Given the description of an element on the screen output the (x, y) to click on. 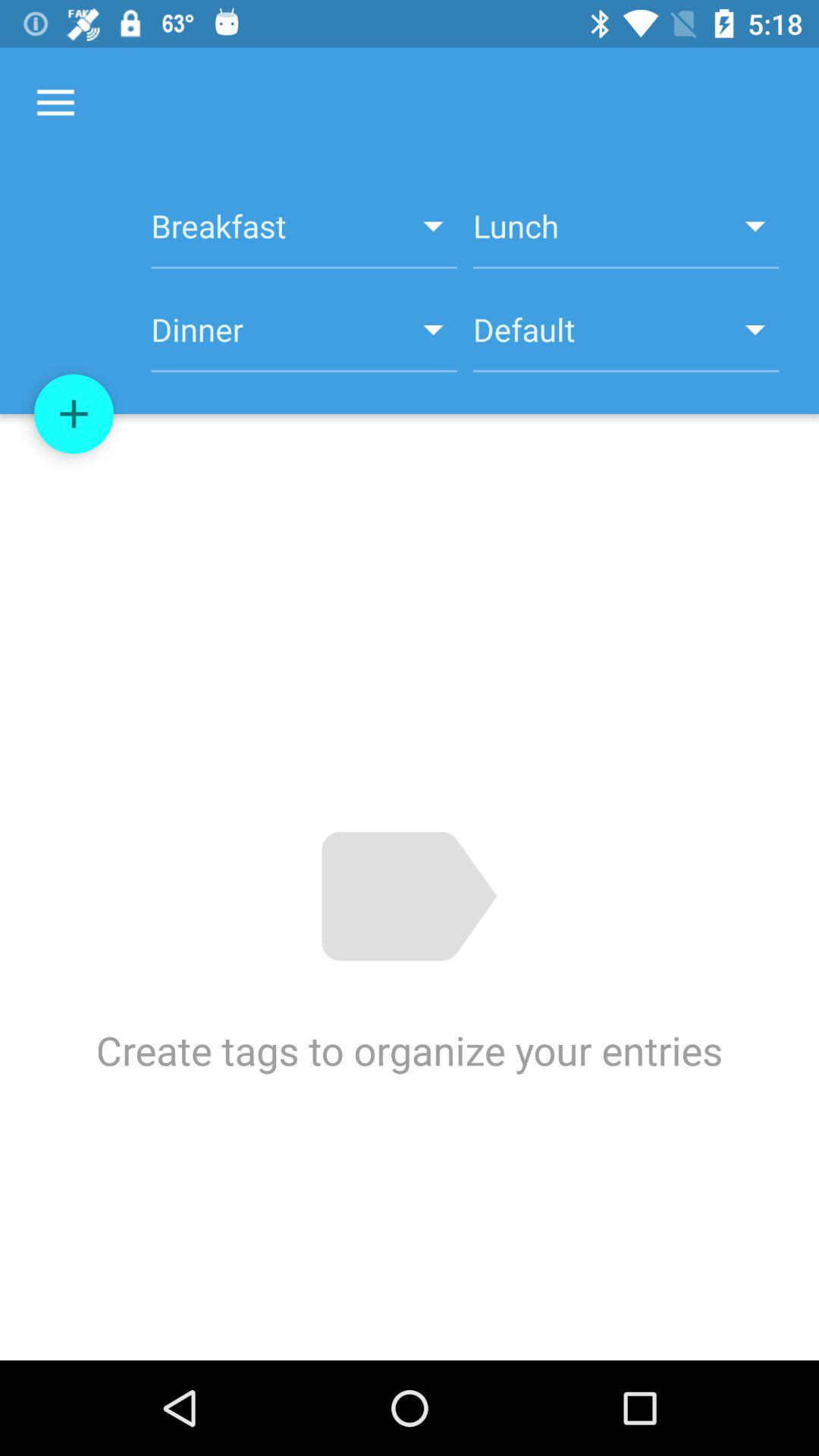
click the icon next to lunch (304, 234)
